Given the description of an element on the screen output the (x, y) to click on. 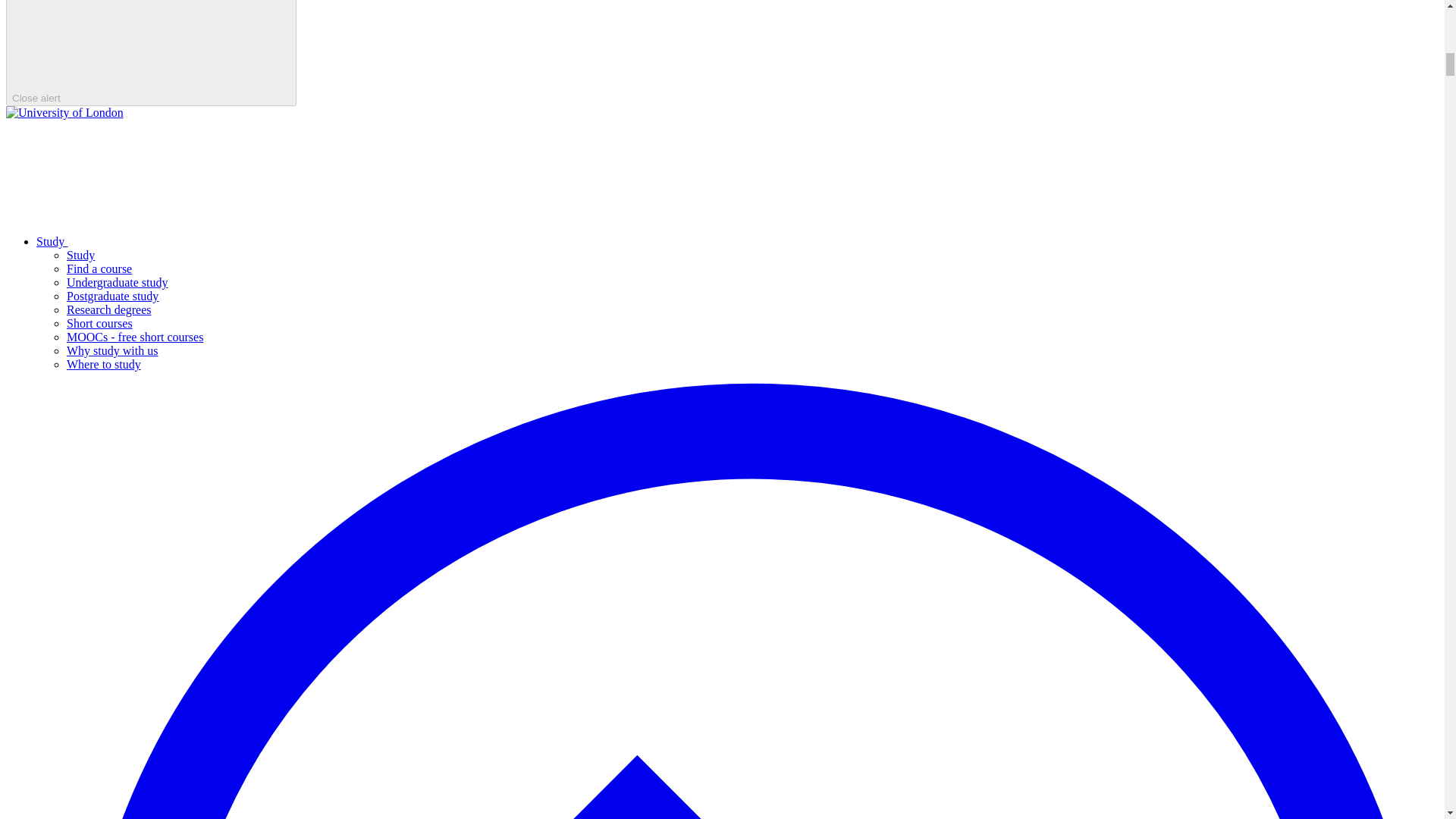
Study (80, 254)
Short courses (99, 323)
Research degrees (108, 309)
Find a course (99, 268)
Postgraduate study (112, 295)
MOOCs - free short courses (134, 336)
Why study with us (111, 350)
Close alert (151, 53)
Study (165, 241)
Undergraduate study (116, 282)
